Given the description of an element on the screen output the (x, y) to click on. 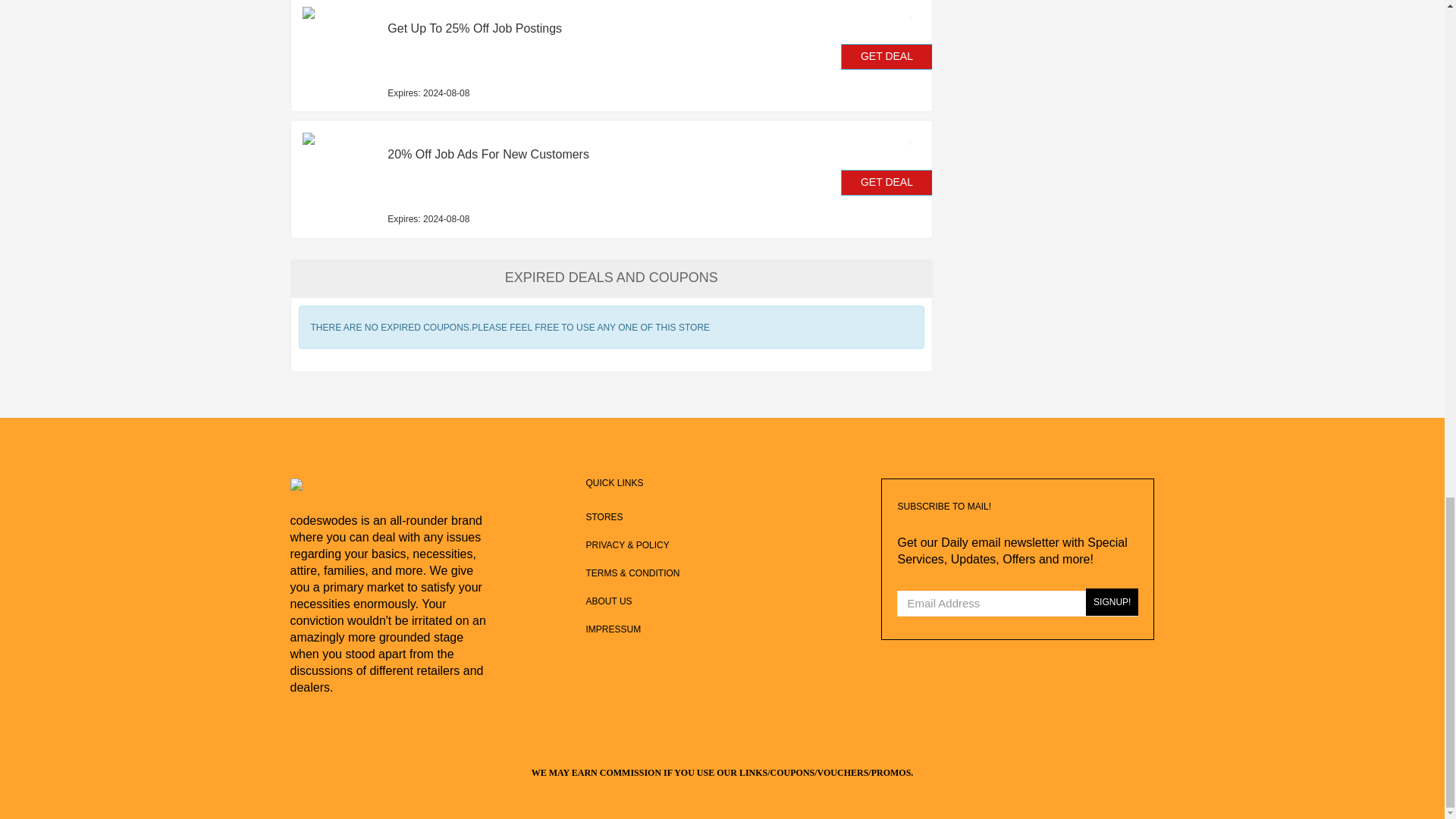
GET DEAL (887, 56)
GET DEAL (887, 182)
